Given the description of an element on the screen output the (x, y) to click on. 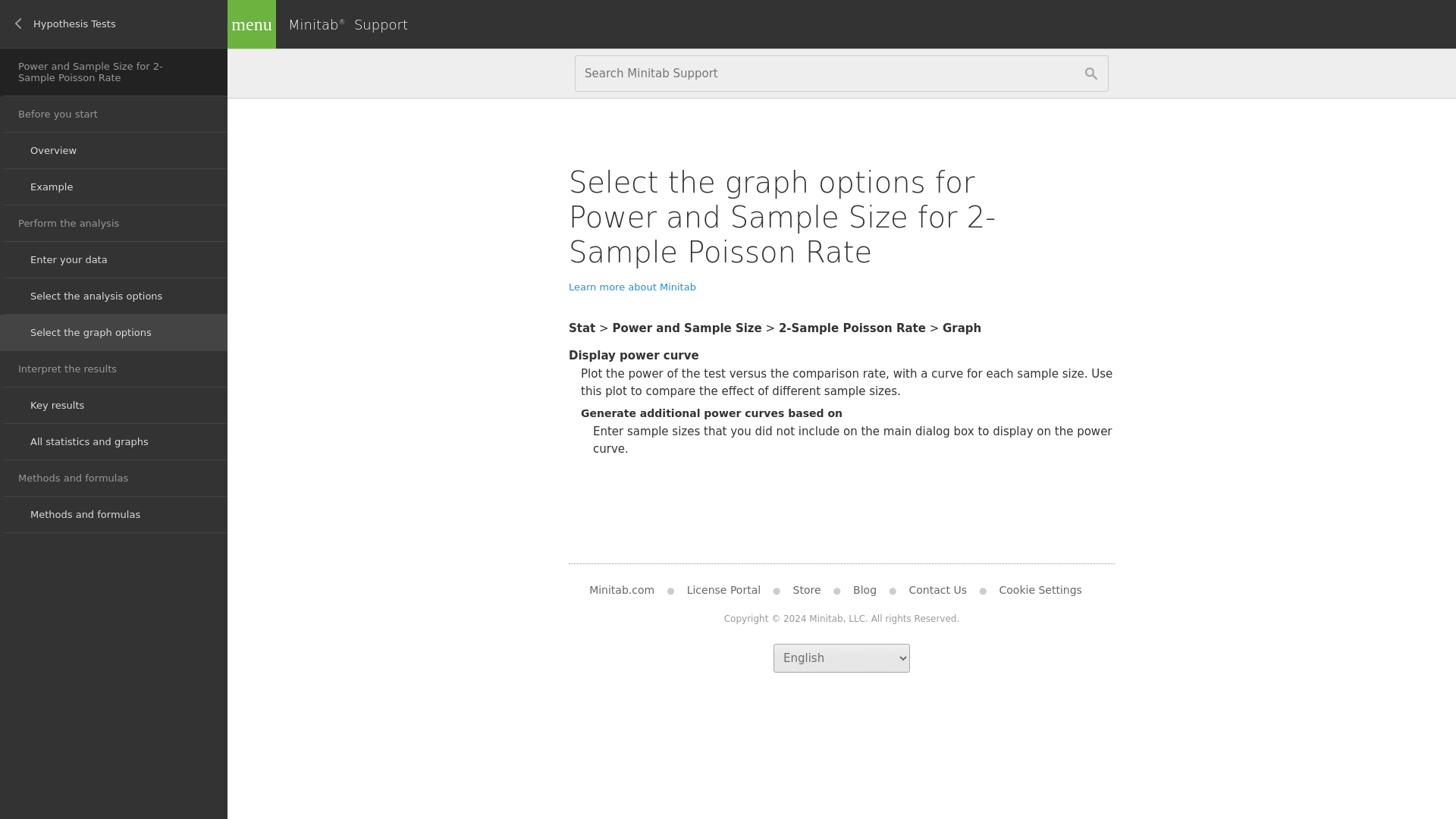
and then (934, 327)
Blog (864, 589)
Cookie Settings (1040, 589)
and then (603, 327)
and then (769, 327)
Learn more about Minitab (632, 286)
Store (806, 589)
License Portal (724, 589)
Contact Us (937, 589)
Minitab.com (627, 589)
